Given the description of an element on the screen output the (x, y) to click on. 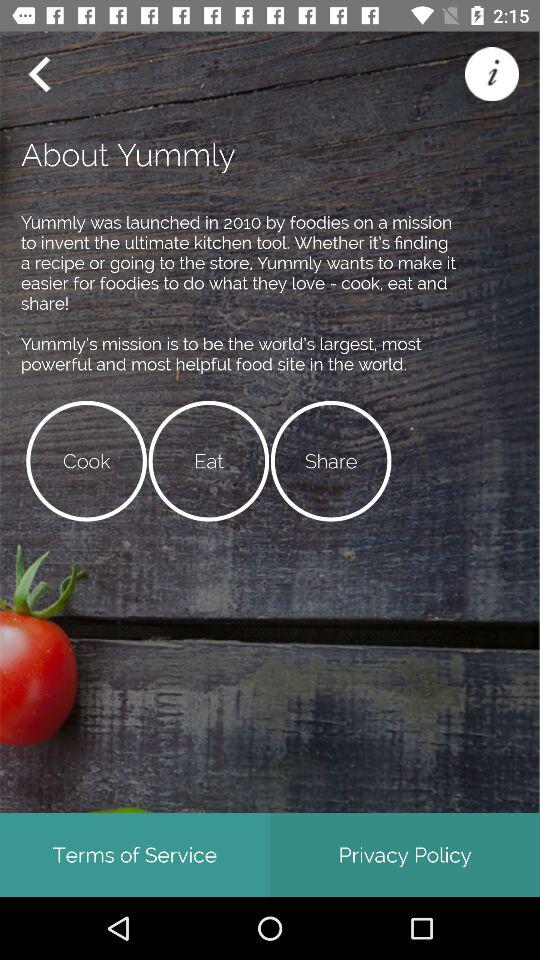
go to previous (39, 74)
